Given the description of an element on the screen output the (x, y) to click on. 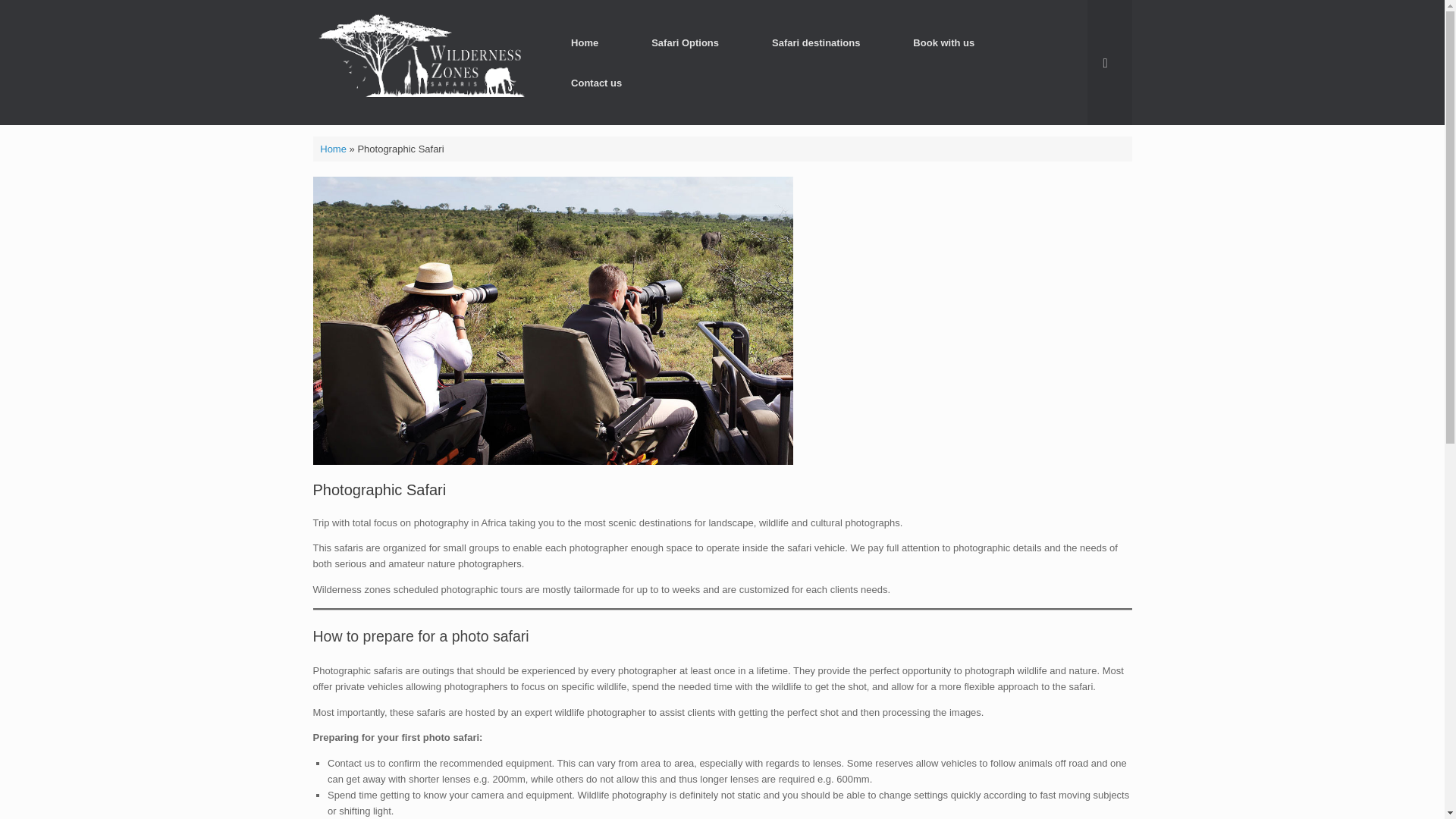
Safari Options (684, 42)
Contact us (595, 83)
Home (333, 148)
Safari destinations (815, 42)
Book with us (943, 42)
Home (584, 42)
wilderness zones safaris (422, 62)
